Given the description of an element on the screen output the (x, y) to click on. 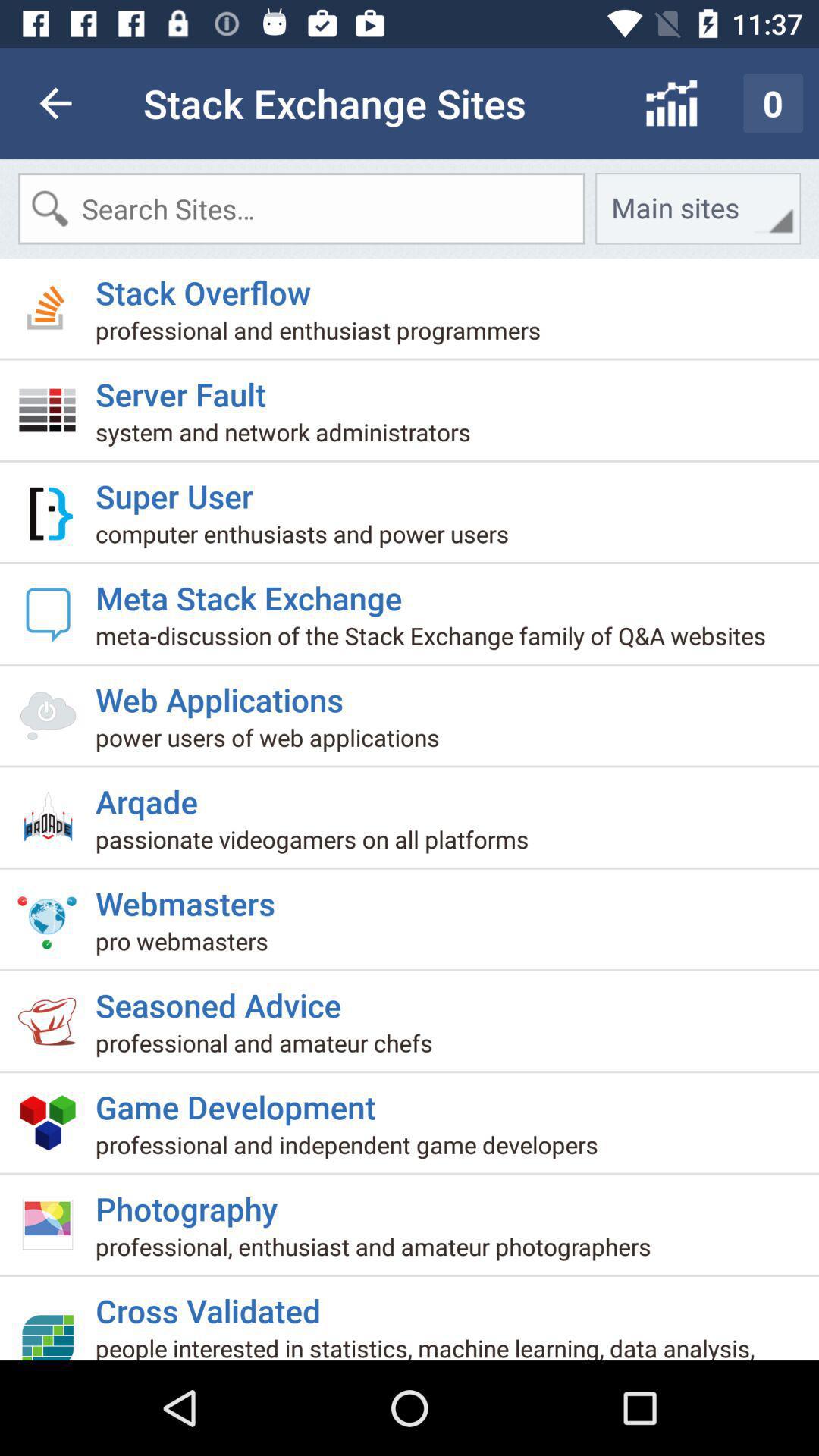
turn off icon below server fault icon (288, 437)
